Given the description of an element on the screen output the (x, y) to click on. 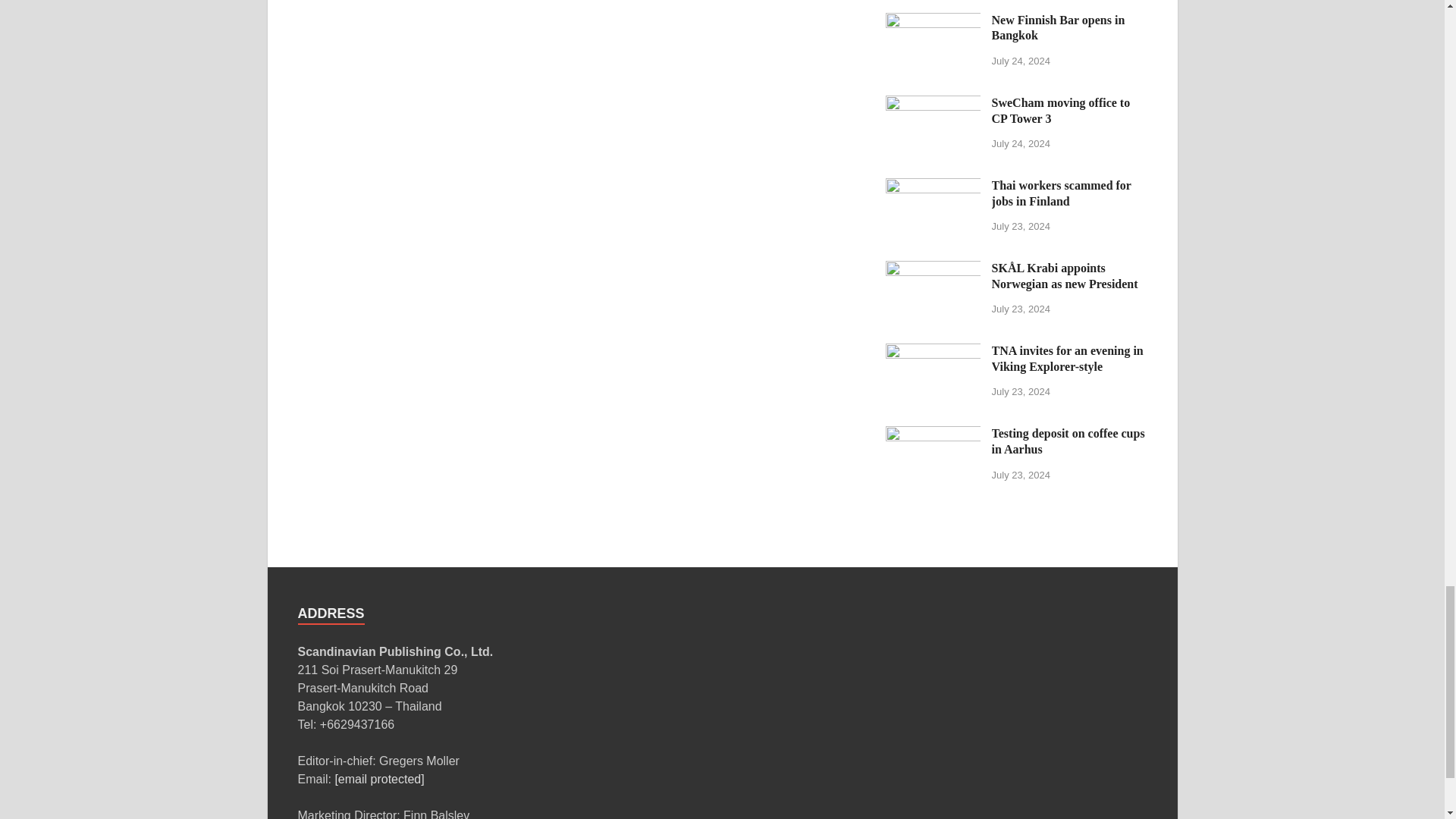
Thai workers scammed for jobs in Finland (932, 186)
New Finnish Bar opens in Bangkok (932, 21)
SweCham moving office to CP Tower 3 (932, 103)
